Given the description of an element on the screen output the (x, y) to click on. 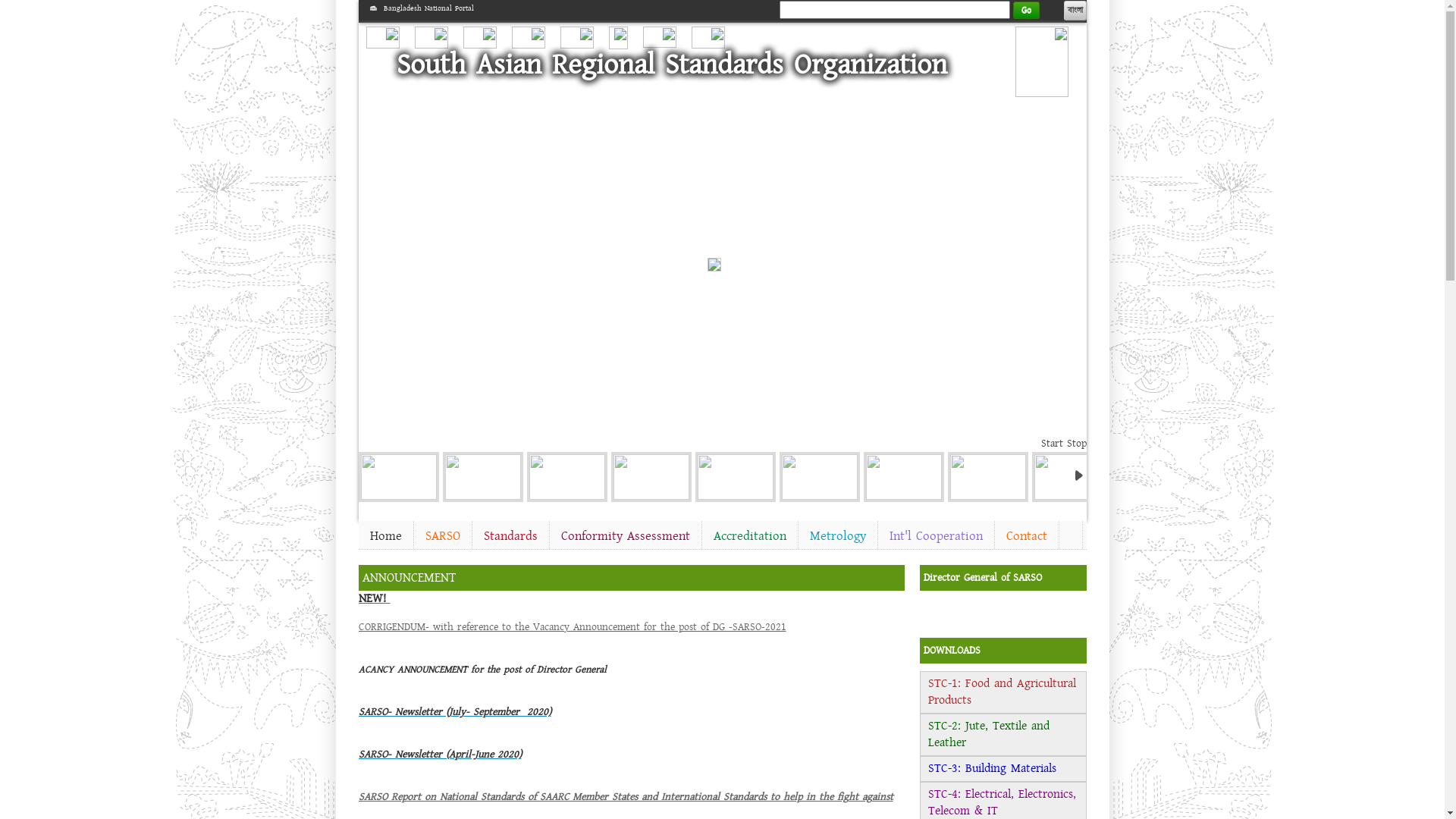
SARSO- Newsletter (July- September  2020) Element type: text (453, 711)
Home Element type: text (384, 535)
Contact Element type: text (1026, 535)
Metrology Element type: text (836, 535)
Go Element type: text (1026, 9)
Int'l Cooperation Element type: text (936, 535)
Standards Element type: text (509, 535)
Audit Team (JAT18) with SARSO Officials Element type: hover (902, 476)
Conformity Assessment Element type: text (624, 535)
South Asian Regional Standards Organization Element type: text (670, 64)
NEW!  Element type: text (373, 598)
SARSO Element type: text (442, 535)
ACANCY ANNOUNCEMENT for the post of Director General  Element type: text (483, 669)
Courtesy call on to DG (SAARC BIMSTEC, MoFA, Bangladesh) Element type: hover (819, 476)
SARSO- Newsletter (April-June 2020) Element type: text (438, 754)
Accreditation Element type: text (749, 535)
